Given the description of an element on the screen output the (x, y) to click on. 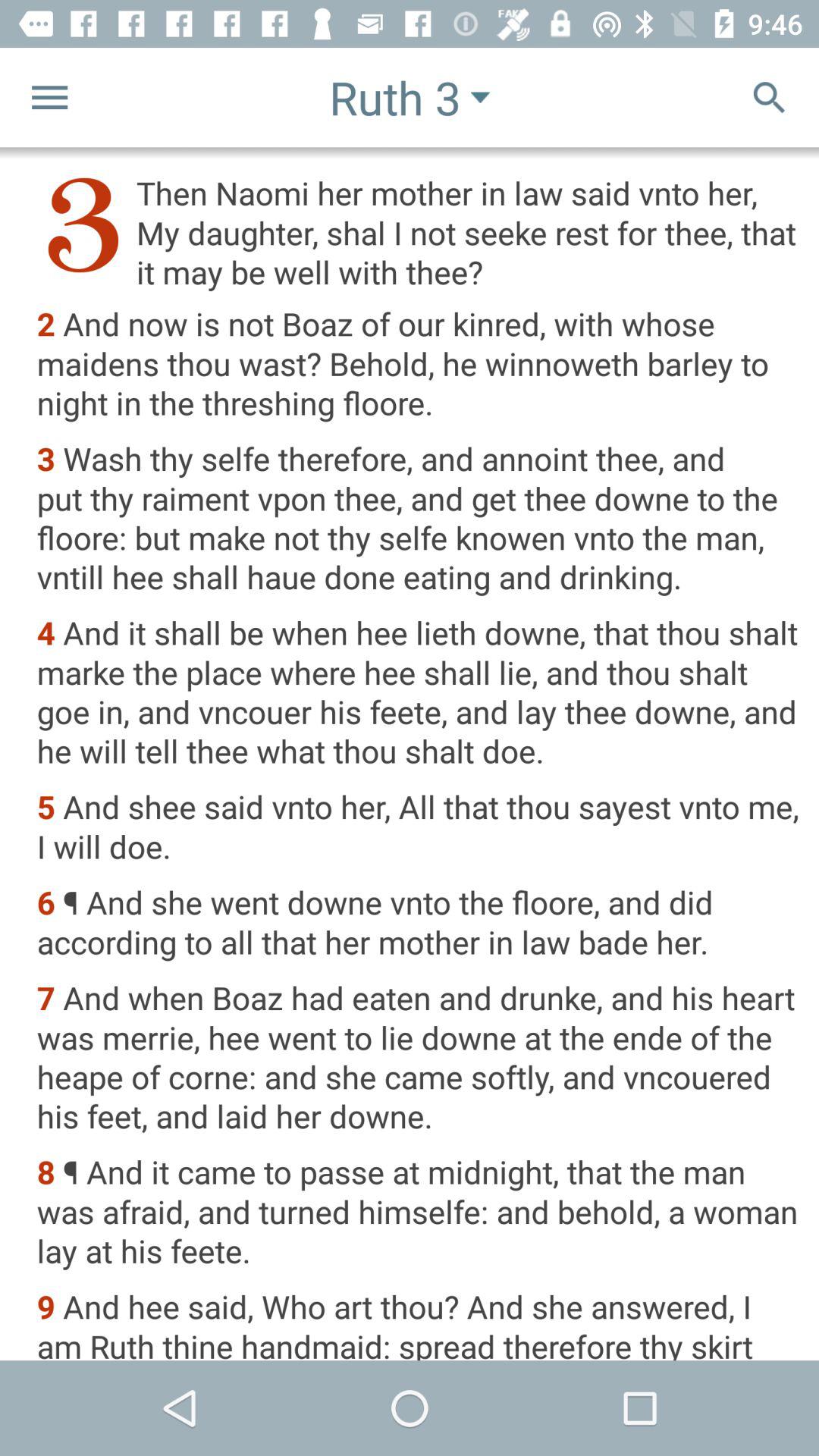
flip until 5 and shee item (417, 827)
